Given the description of an element on the screen output the (x, y) to click on. 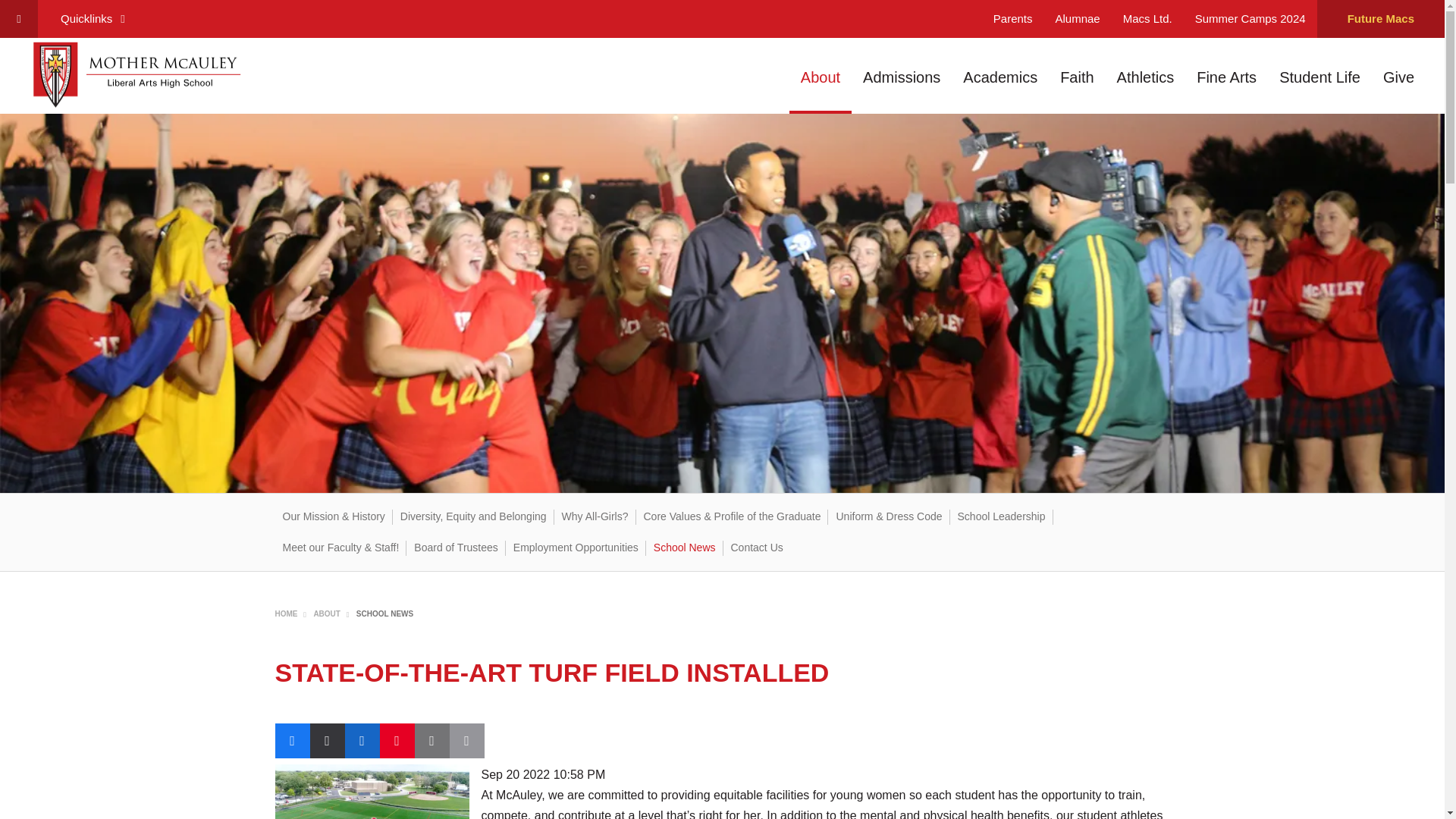
Share to Pinterest (395, 740)
Share to LinkedIn (360, 740)
Share to Twitter (325, 740)
Share to Facebook (291, 740)
Print this page (465, 740)
Share to Email (430, 740)
